Given the description of an element on the screen output the (x, y) to click on. 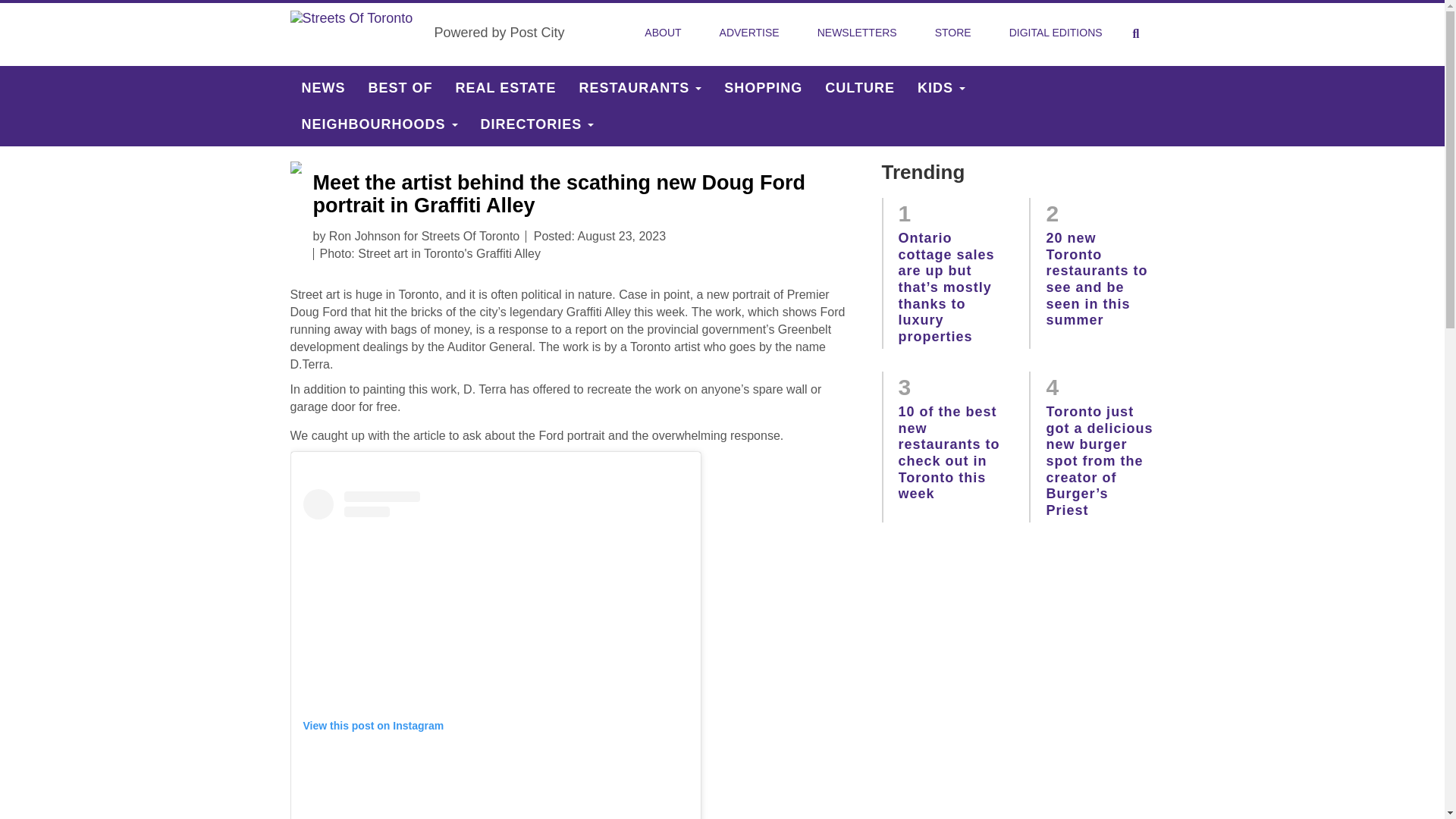
DIGITAL EDITIONS (1056, 32)
NEWS (322, 87)
RESTAURANTS (640, 87)
CULTURE (859, 87)
STORE (953, 32)
BEST OF (400, 87)
NEWSLETTERS (857, 32)
ADVERTISE (749, 32)
Streets Of Toronto (355, 33)
ABOUT (661, 32)
REAL ESTATE (505, 87)
SHOPPING (763, 87)
